Given the description of an element on the screen output the (x, y) to click on. 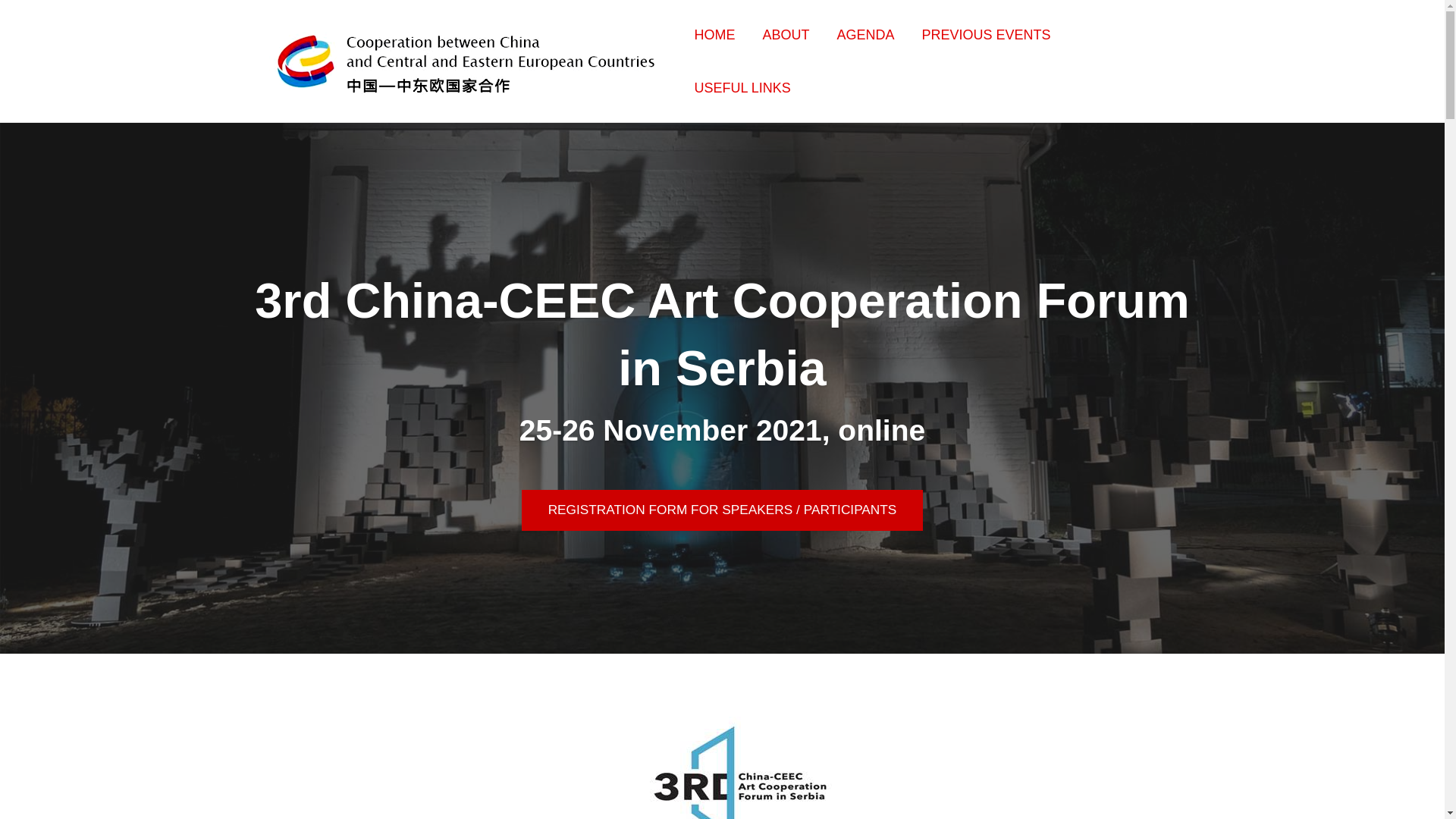
REGISTRATION FORM FOR SPEAKERS / PARTICIPANTS Element type: text (721, 509)
USEFUL LINKS Element type: text (742, 86)
ABOUT Element type: text (786, 33)
HOME Element type: text (714, 33)
PREVIOUS EVENTS Element type: text (986, 33)
AGENDA Element type: text (865, 33)
